Given the description of an element on the screen output the (x, y) to click on. 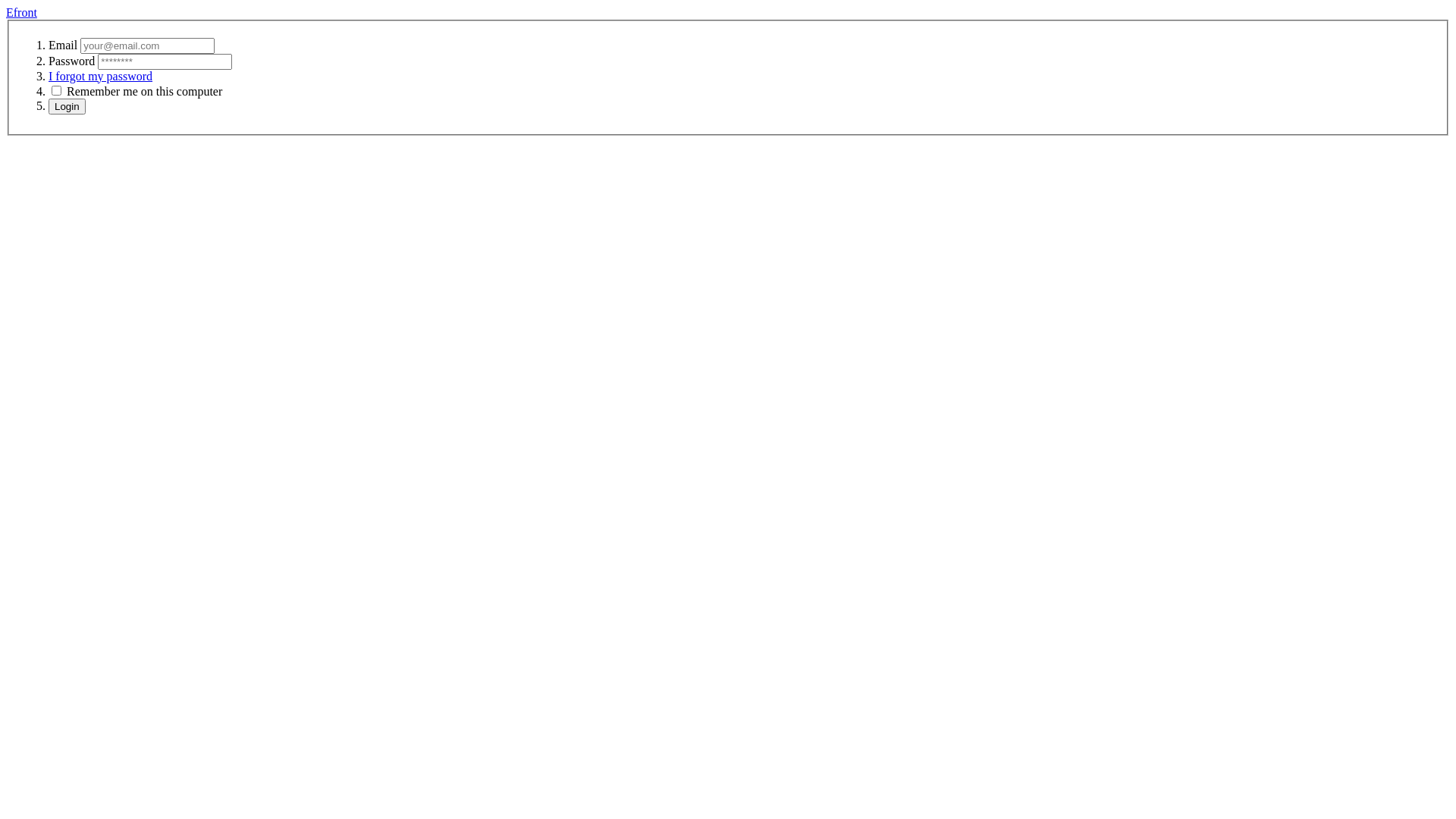
Efront Element type: text (21, 12)
I forgot my password Element type: text (100, 75)
Login Element type: text (66, 106)
